Given the description of an element on the screen output the (x, y) to click on. 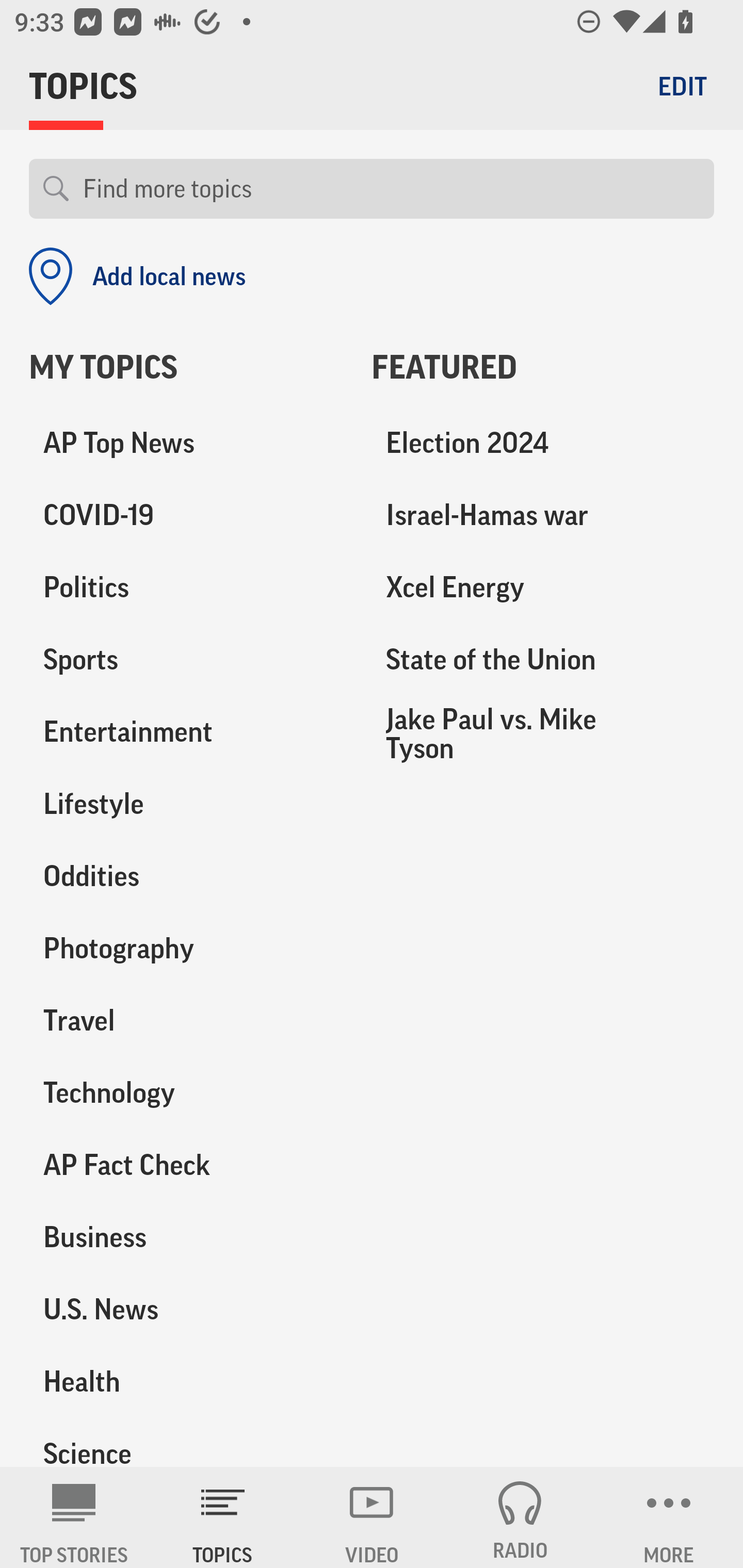
EDIT (682, 86)
Find more topics (391, 188)
Add local news (137, 276)
AP Top News (185, 443)
Election 2024 (542, 443)
COVID-19 (185, 515)
Israel-Hamas war (542, 515)
Politics (185, 587)
Xcel Energy (542, 587)
Sports (185, 660)
State of the Union (542, 660)
Entertainment (185, 732)
Jake Paul vs. Mike Tyson (542, 733)
Lifestyle (185, 804)
Oddities (185, 876)
Photography (185, 948)
Travel (185, 1020)
Technology (185, 1092)
AP Fact Check (185, 1164)
Business (185, 1237)
U.S. News (185, 1309)
Health (185, 1381)
Science (185, 1442)
AP News TOP STORIES (74, 1517)
TOPICS (222, 1517)
VIDEO (371, 1517)
RADIO (519, 1517)
MORE (668, 1517)
